Given the description of an element on the screen output the (x, y) to click on. 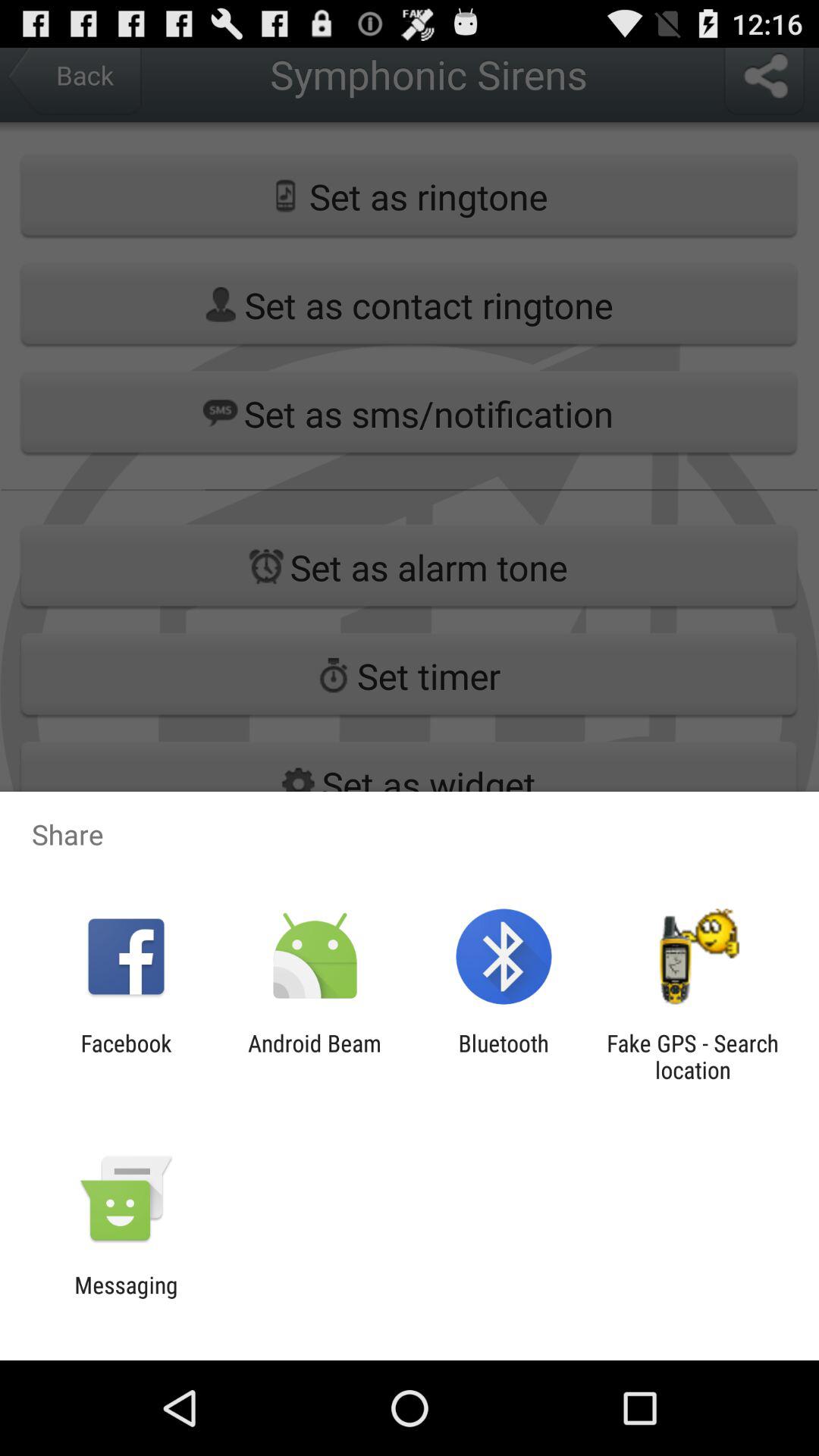
choose android beam icon (314, 1056)
